Given the description of an element on the screen output the (x, y) to click on. 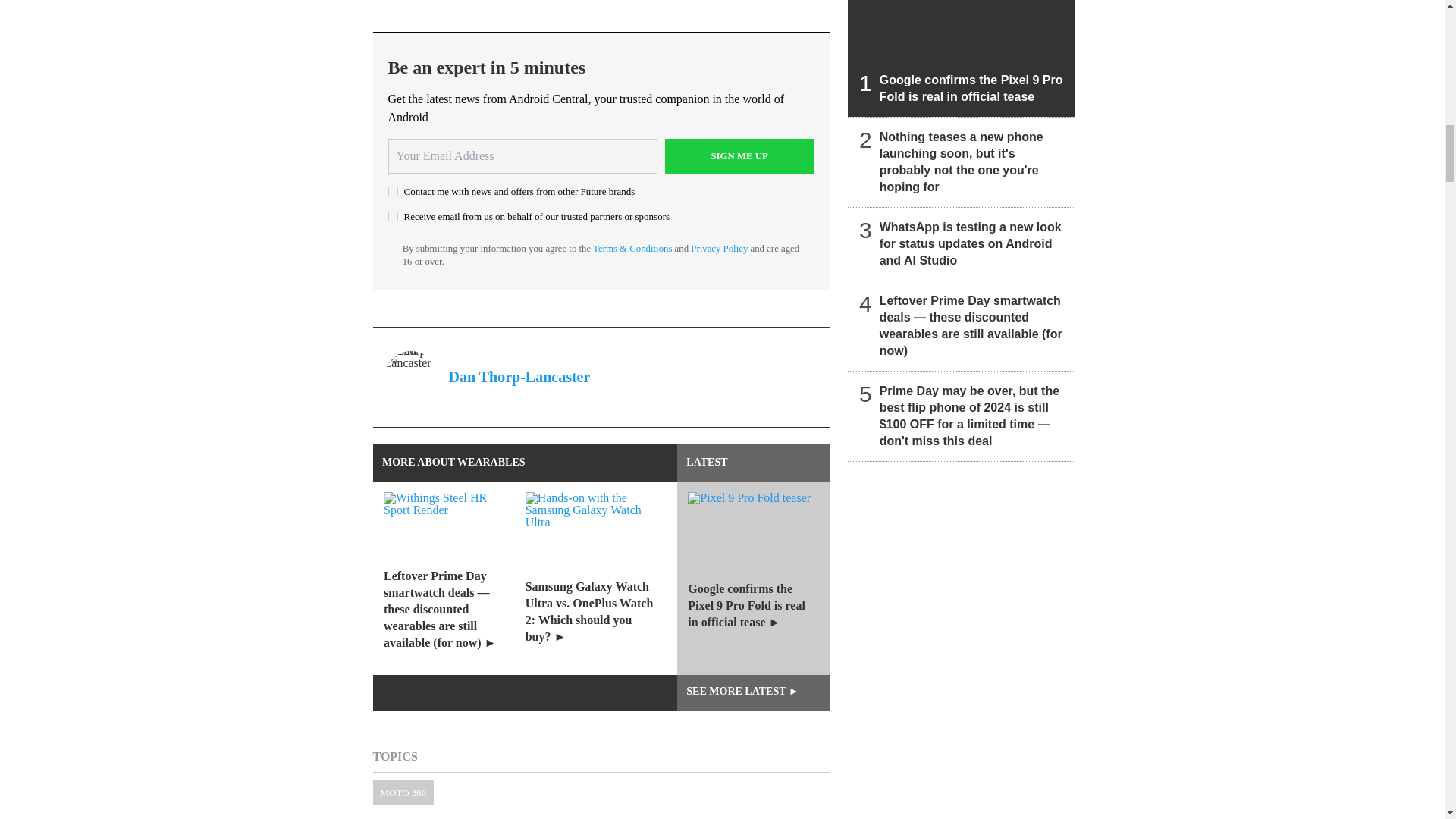
Sign me up (739, 155)
on (392, 216)
on (392, 191)
